Given the description of an element on the screen output the (x, y) to click on. 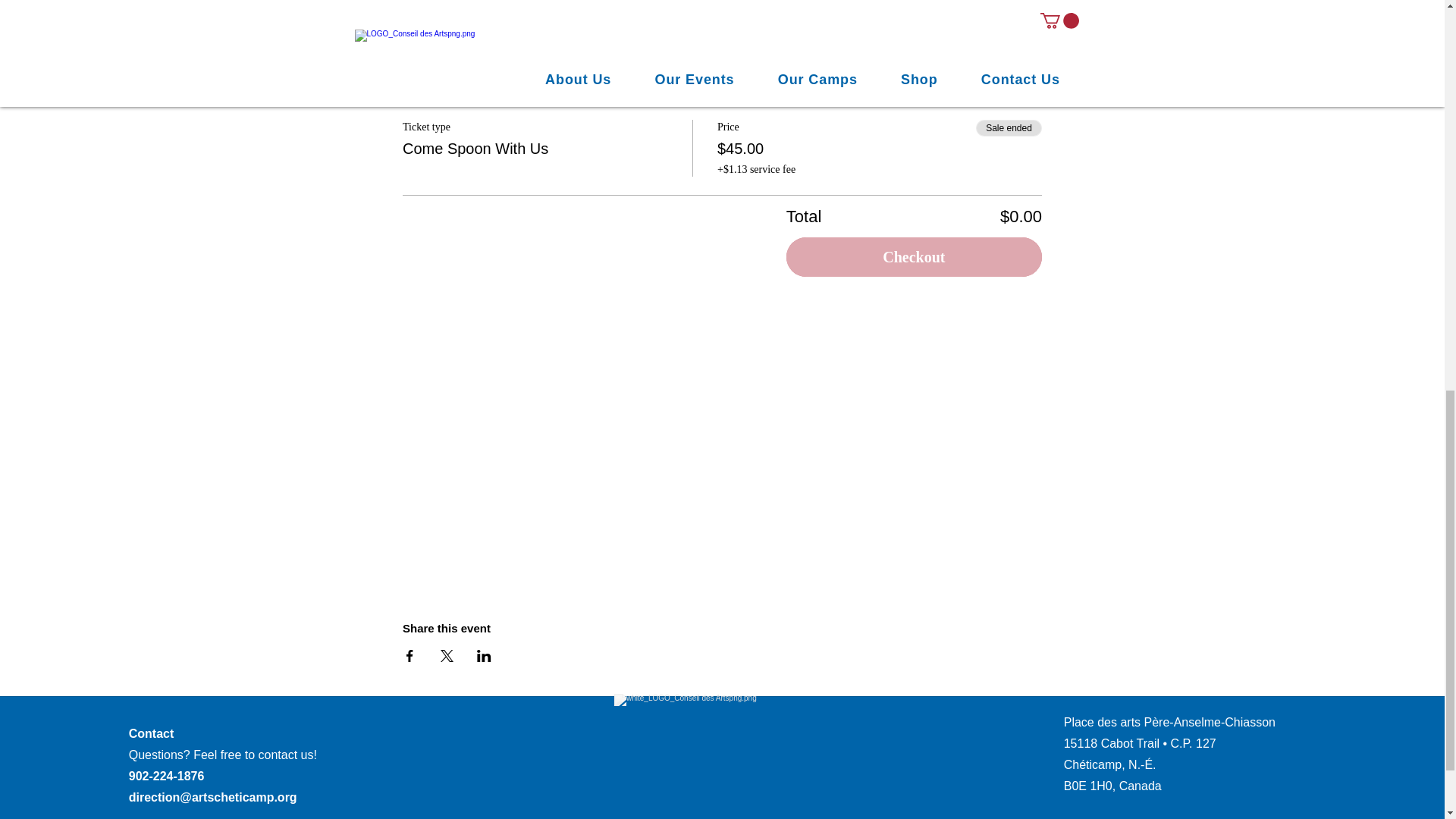
Checkout (914, 256)
902-224-1876 (167, 775)
